Given the description of an element on the screen output the (x, y) to click on. 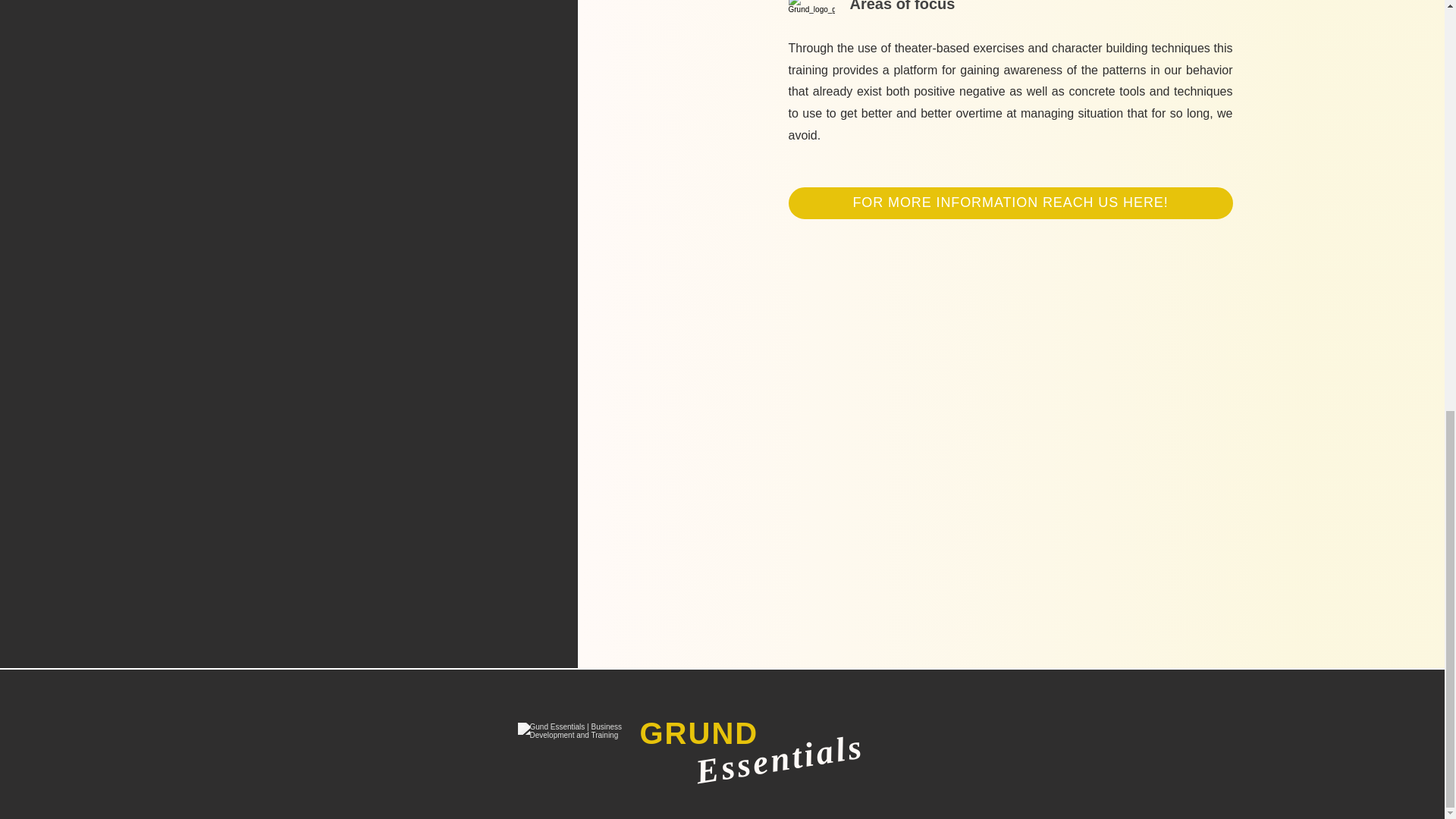
GRUND (699, 733)
FOR MORE INFORMATION REACH US HERE! (1011, 203)
Essentials (777, 745)
